Given the description of an element on the screen output the (x, y) to click on. 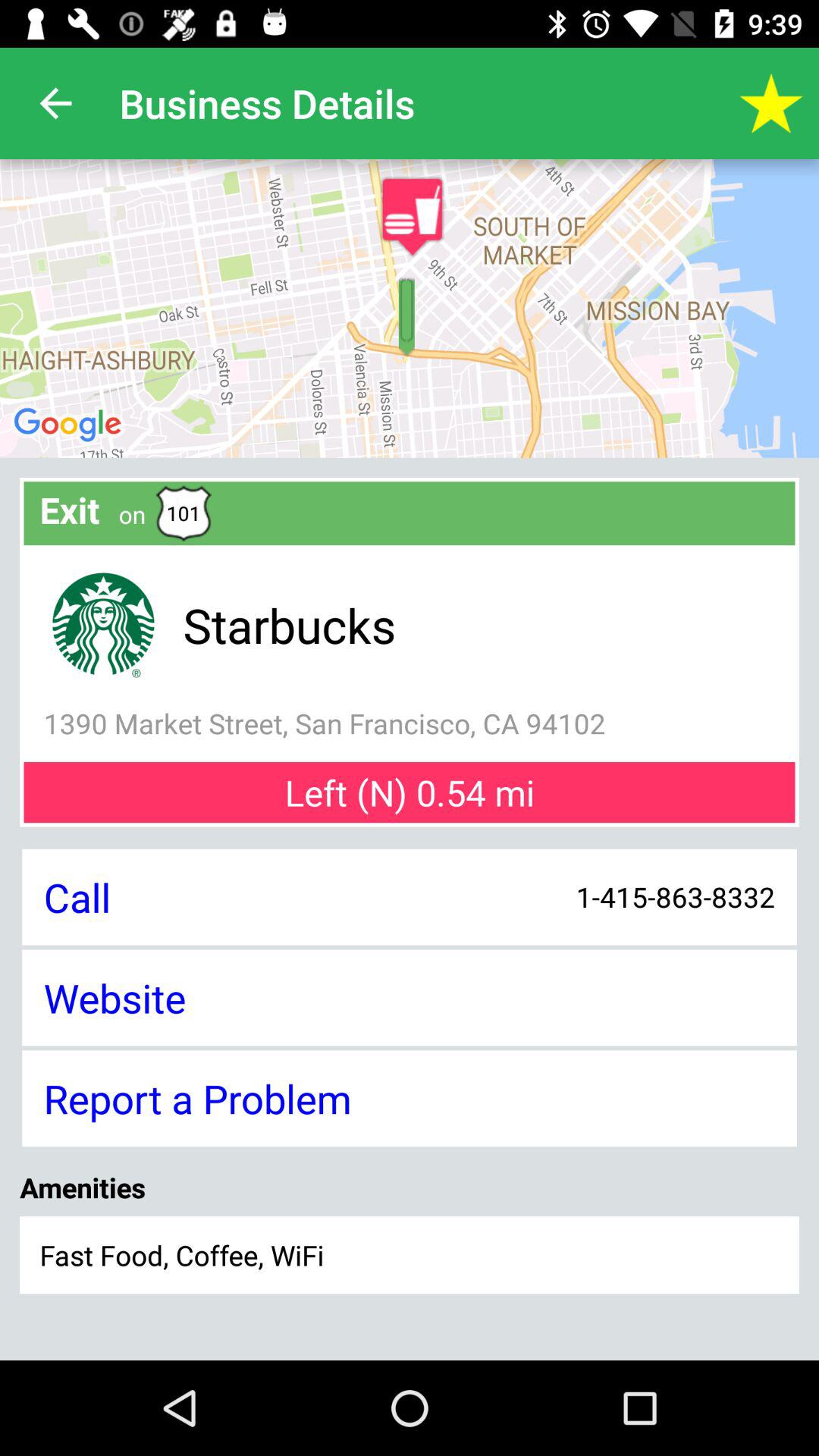
open app to the left of the business details (55, 103)
